Given the description of an element on the screen output the (x, y) to click on. 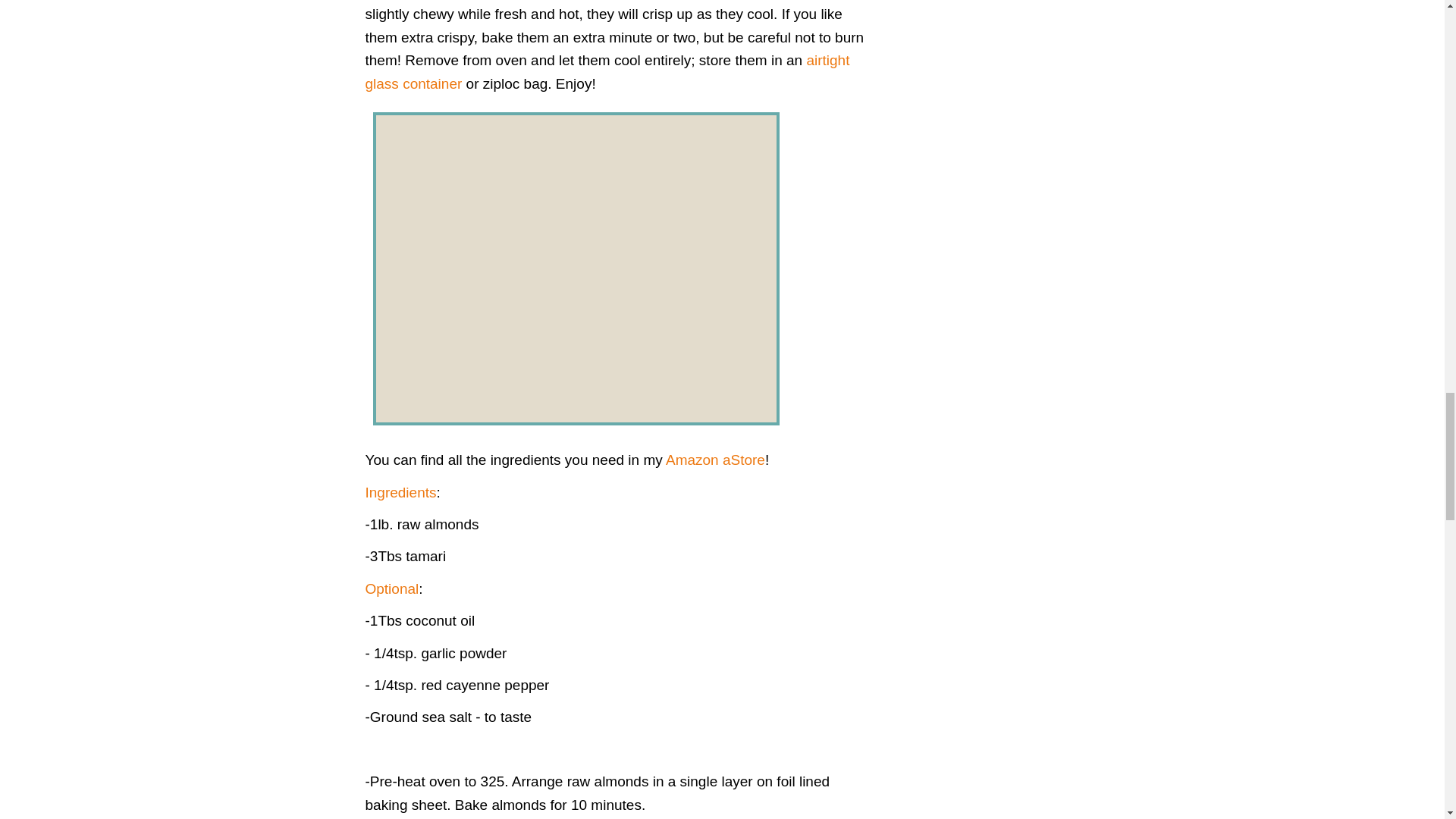
airtight glass container (607, 71)
Amazon aStore (715, 459)
Ingredients (400, 492)
